Given the description of an element on the screen output the (x, y) to click on. 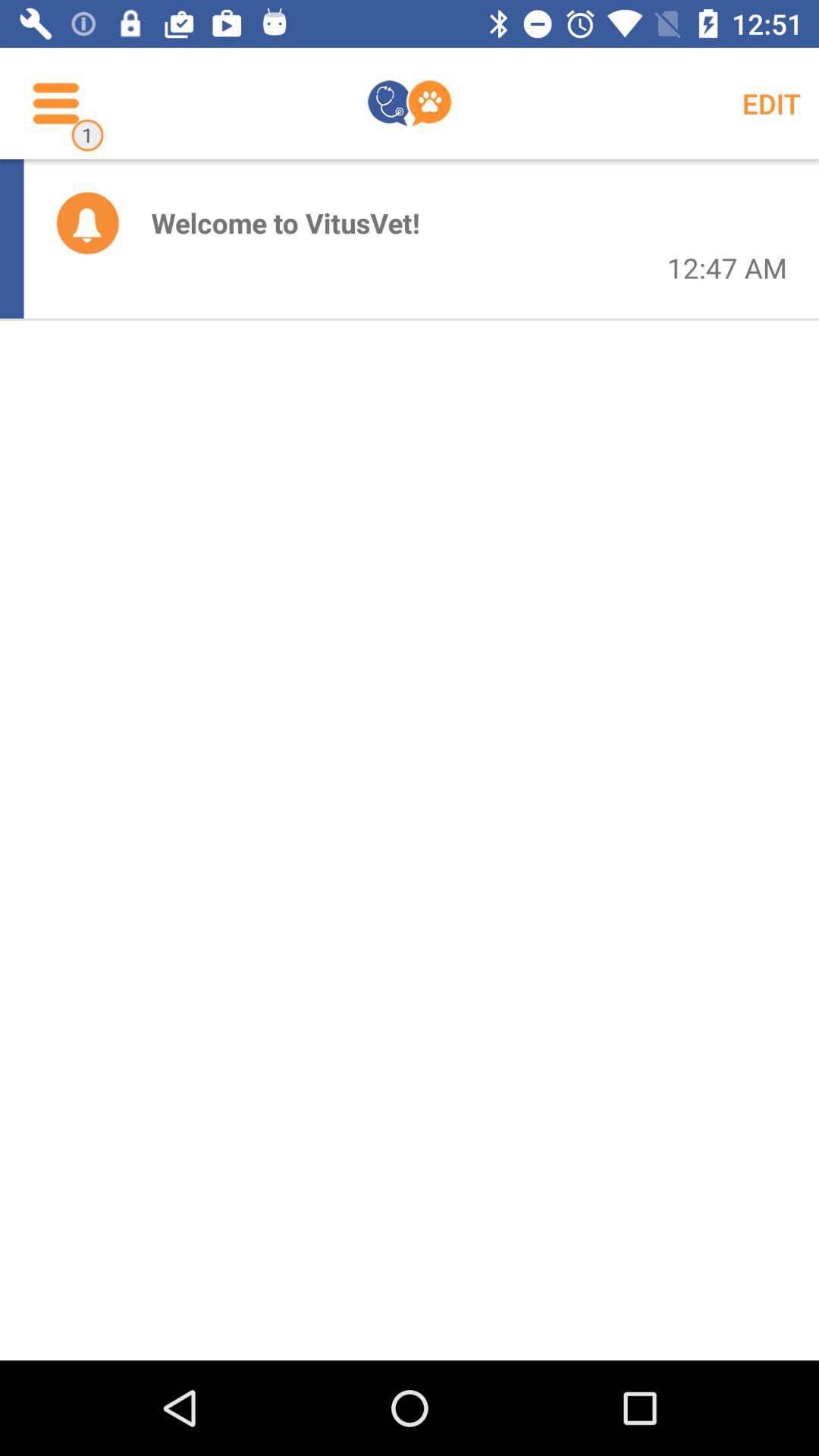
click the 12:47 am icon (727, 267)
